Given the description of an element on the screen output the (x, y) to click on. 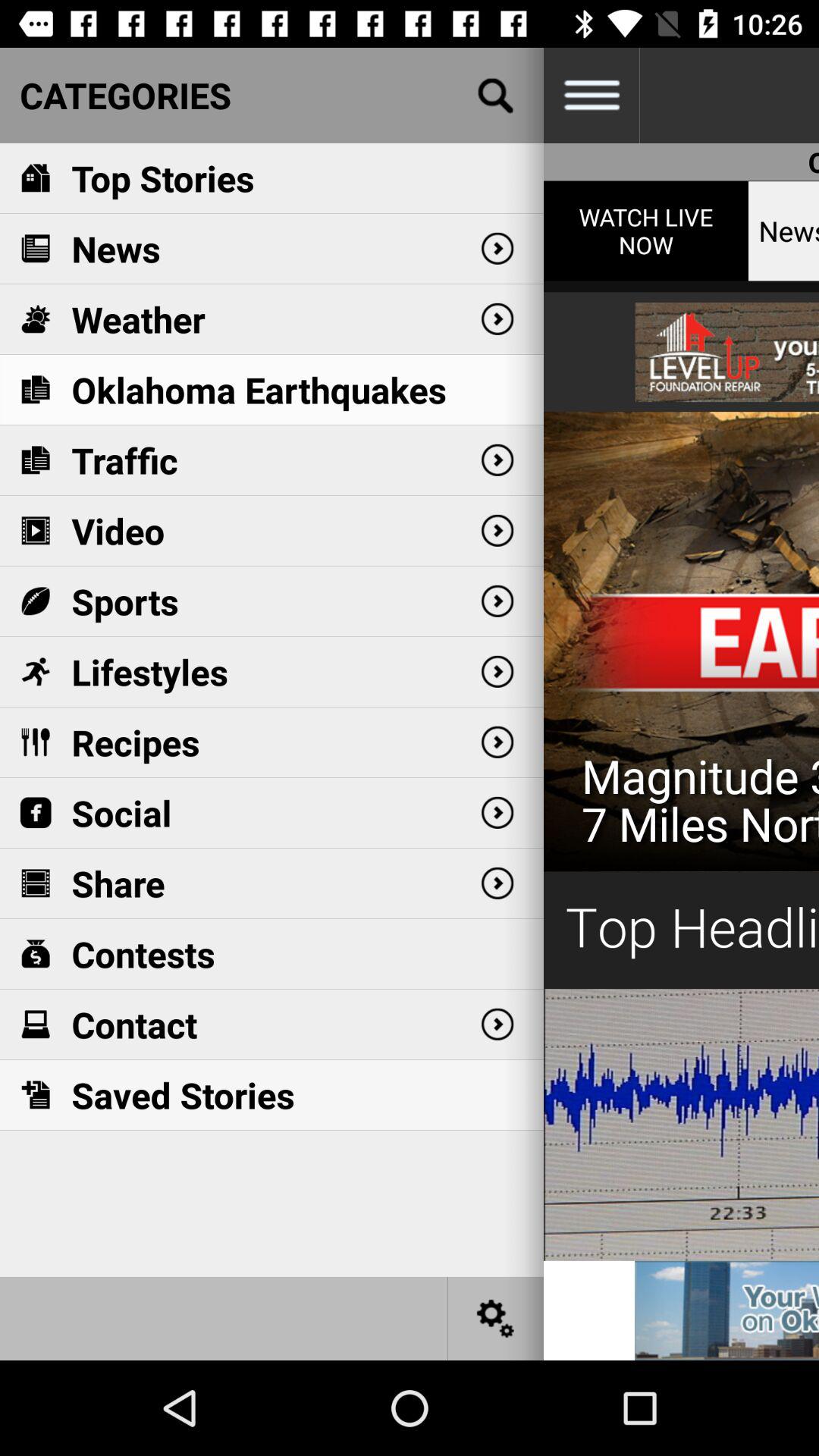
google page (495, 95)
